Given the description of an element on the screen output the (x, y) to click on. 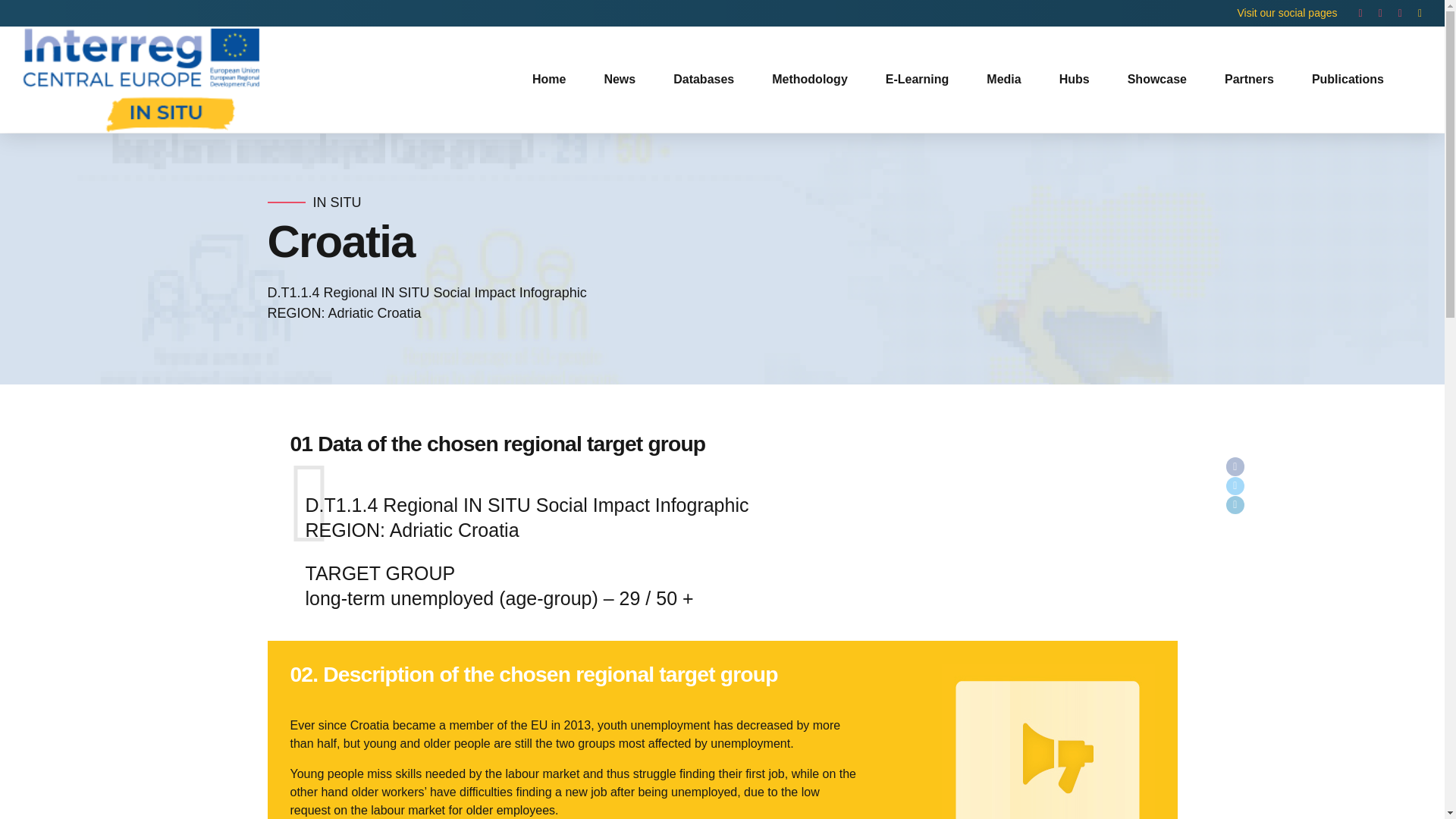
Share on Twitter (1234, 486)
IN SITU (337, 202)
Share on Linkedin (1234, 505)
Share on Facebook (1234, 466)
